Given the description of an element on the screen output the (x, y) to click on. 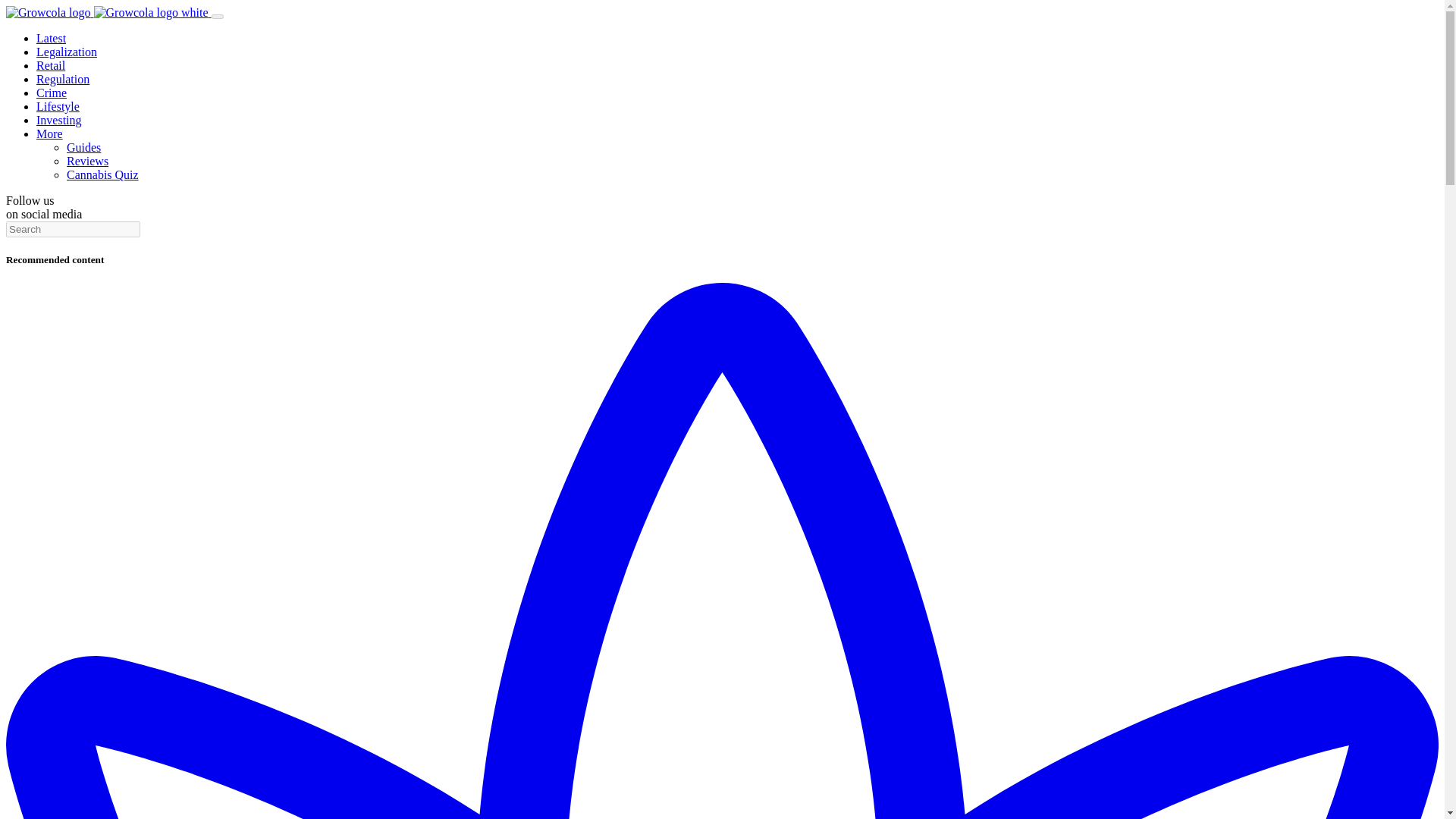
Latest (50, 38)
Cannabis Quiz (102, 174)
Investing (58, 119)
Crime (51, 92)
Cannabis Quiz (102, 174)
Regulation (62, 78)
Legalization (66, 51)
More (49, 133)
Crime (51, 92)
Lifestyle (58, 106)
